Given the description of an element on the screen output the (x, y) to click on. 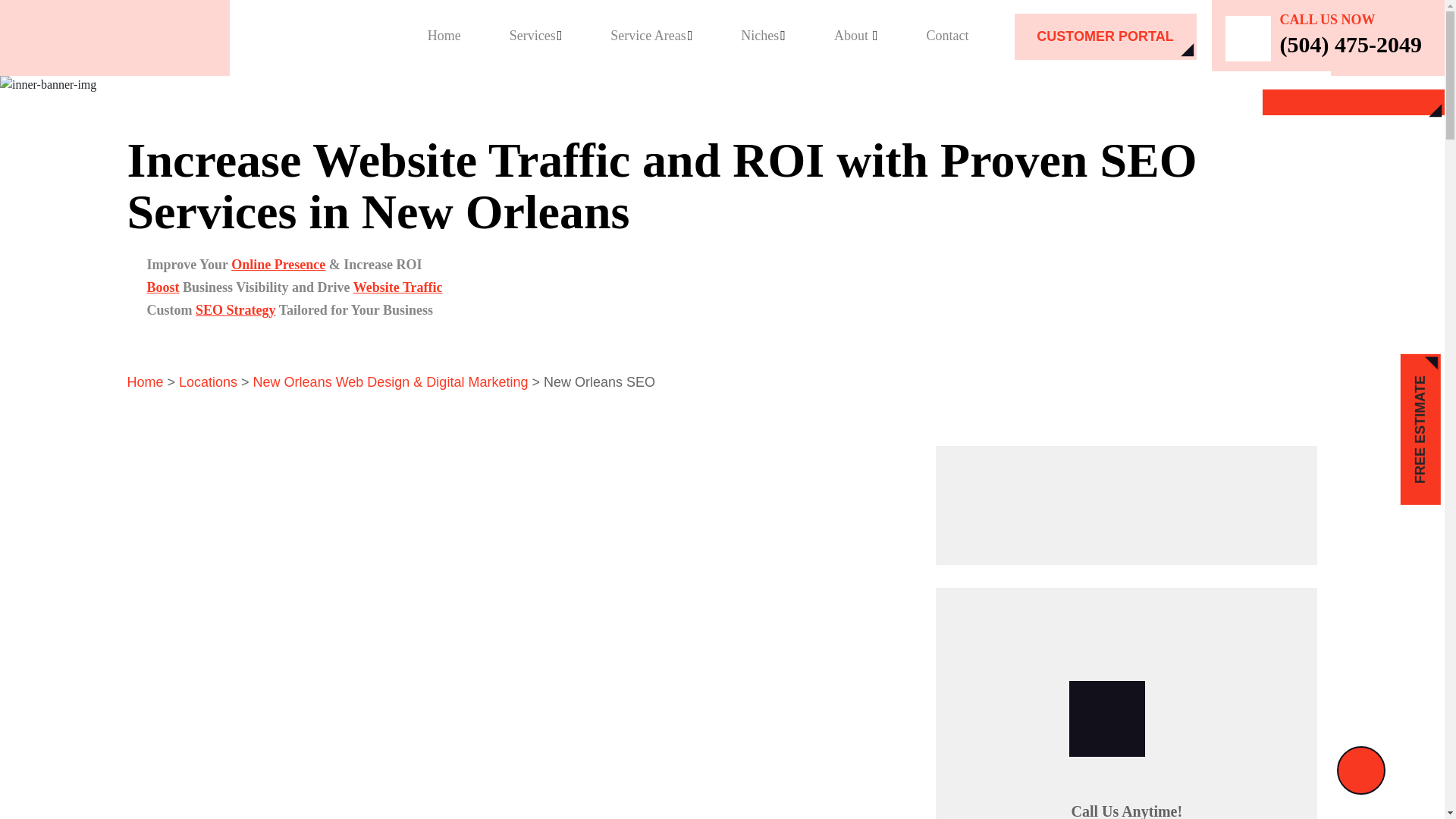
Go to Big Easy SEO. (145, 381)
Services (535, 35)
Go to Locations. (208, 381)
Contact Us Today! (1126, 502)
Service Areas (651, 35)
CUSTOMER PORTAL (1105, 36)
Home (443, 35)
